Given the description of an element on the screen output the (x, y) to click on. 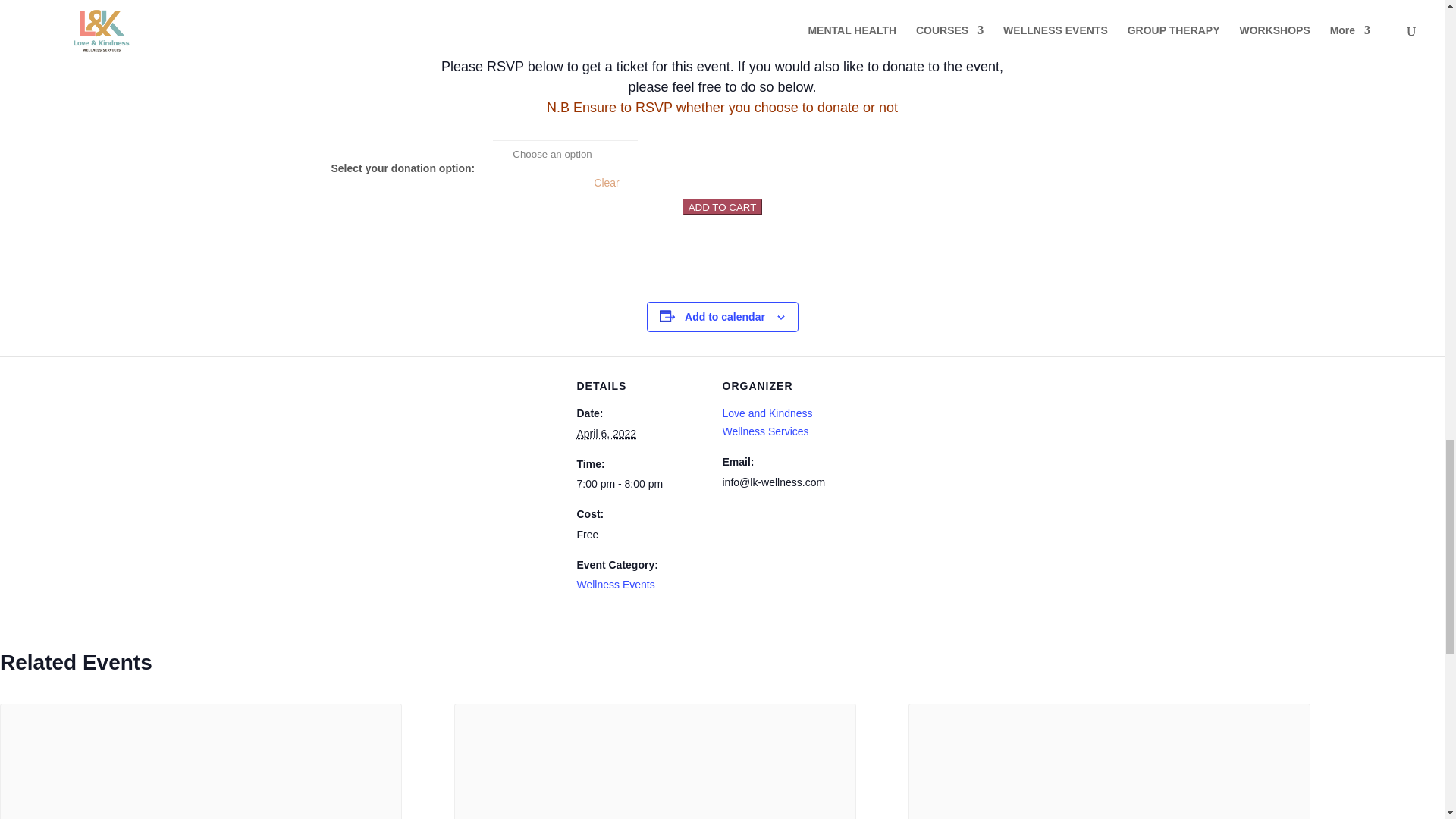
Love and Kindness Wellness Services (767, 422)
2022-04-06 (639, 484)
Add to calendar (724, 316)
Clear (606, 183)
2022-04-06 (606, 433)
ADD TO CART (722, 207)
Wellness Events (614, 584)
Love and Kindness Wellness Services (767, 422)
